Given the description of an element on the screen output the (x, y) to click on. 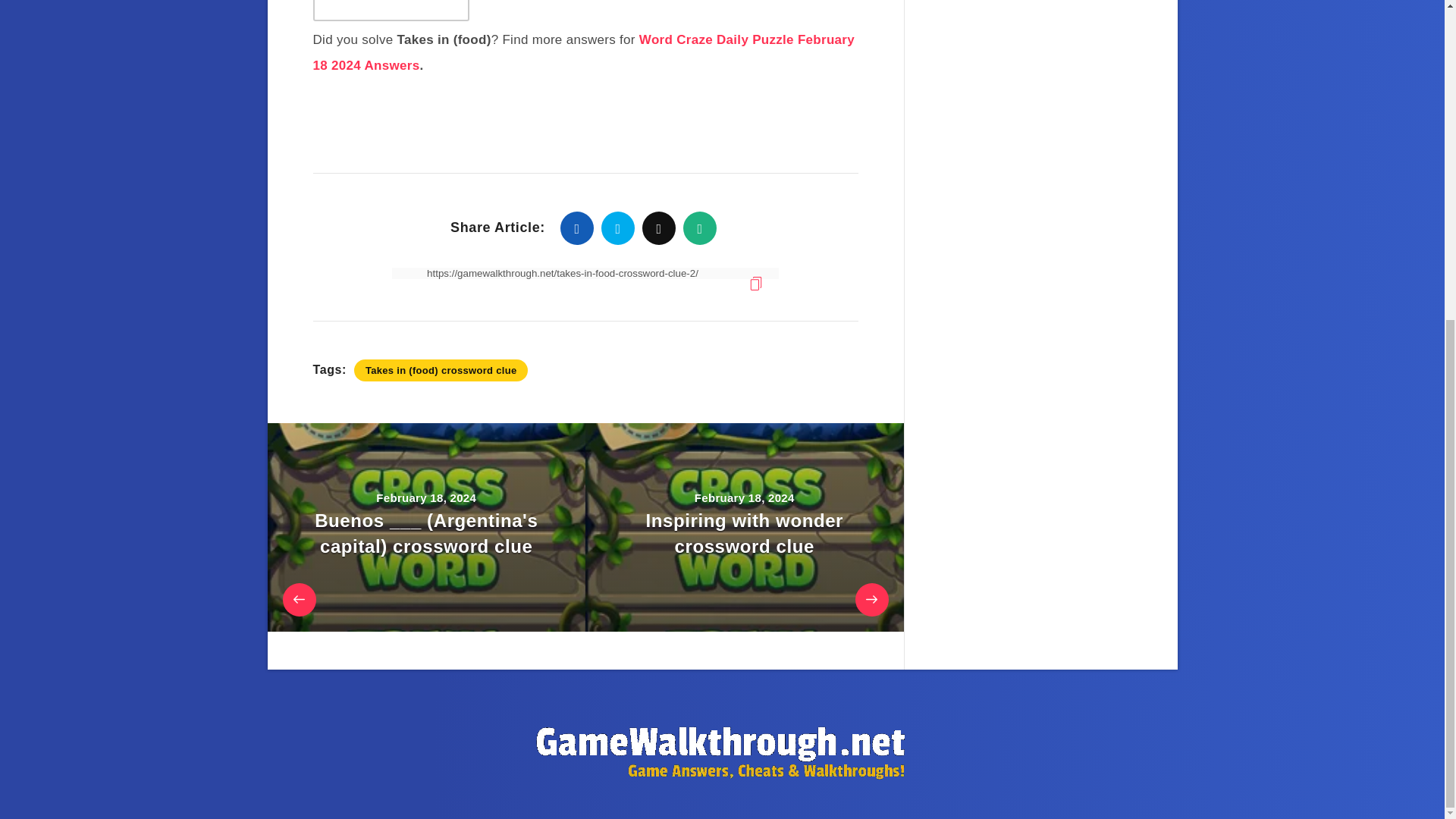
Word Craze Daily Puzzle February 18 2024 Answers (583, 52)
